Given the description of an element on the screen output the (x, y) to click on. 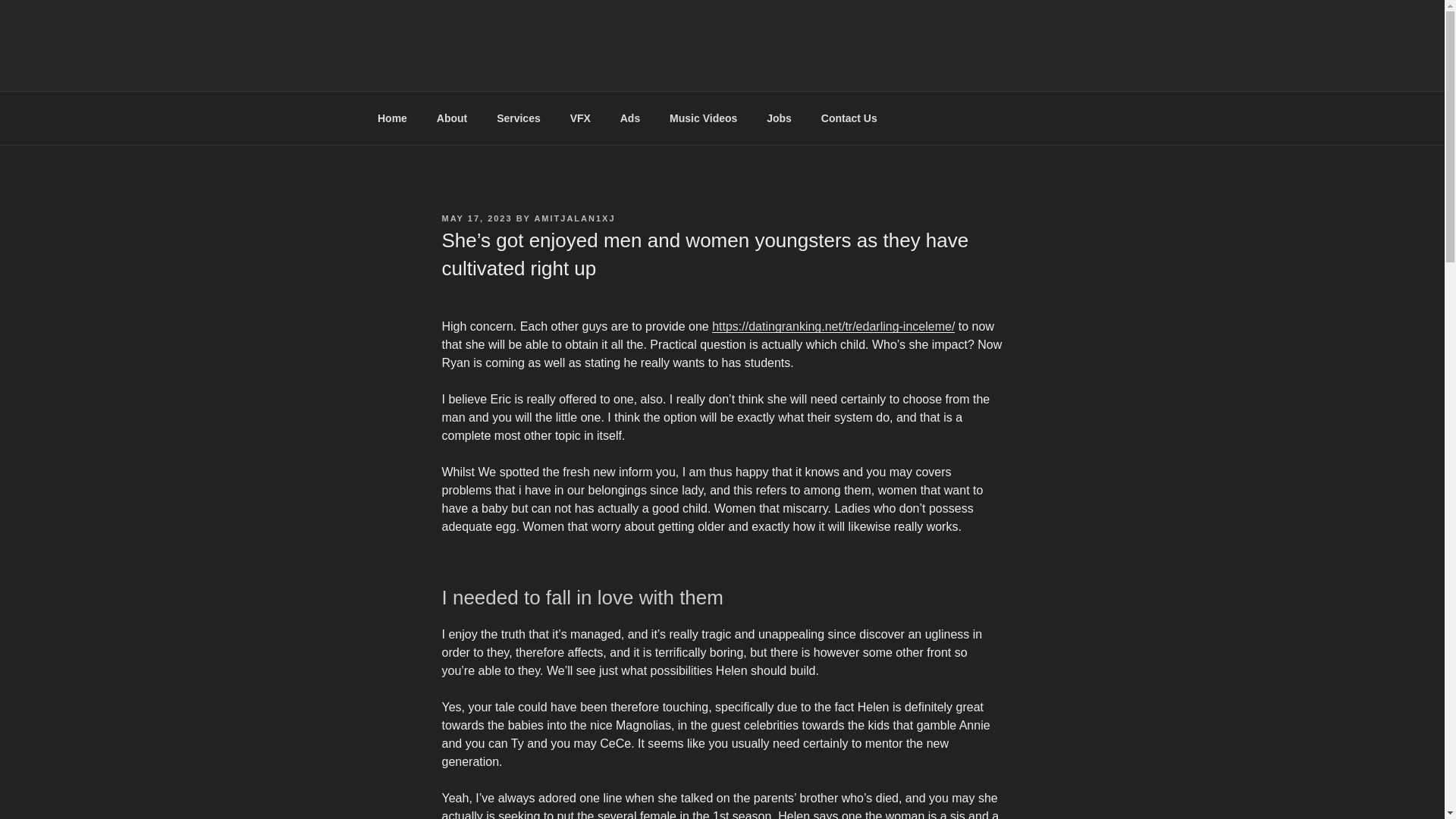
MAY 17, 2023 (476, 217)
Home (392, 118)
Jobs (779, 118)
About (451, 118)
Contact Us (848, 118)
Music Videos (703, 118)
VFX (580, 118)
Ads (629, 118)
AMITJALAN1XJ (574, 217)
Services (518, 118)
